Given the description of an element on the screen output the (x, y) to click on. 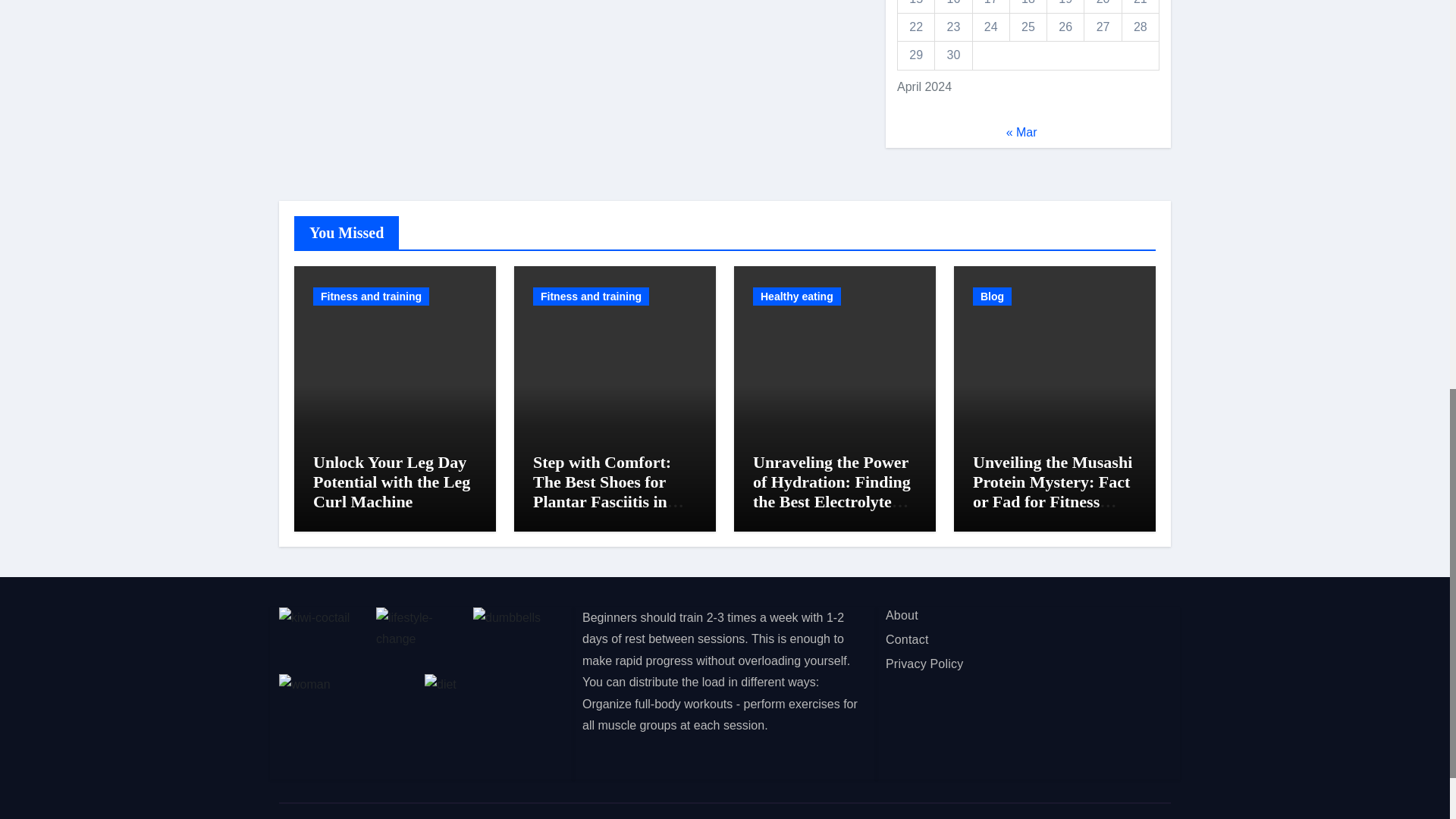
Healthy eating (796, 296)
Unlock Your Leg Day Potential with the Leg Curl Machine (391, 481)
Fitness and training (371, 296)
Fitness and training (590, 296)
